Given the description of an element on the screen output the (x, y) to click on. 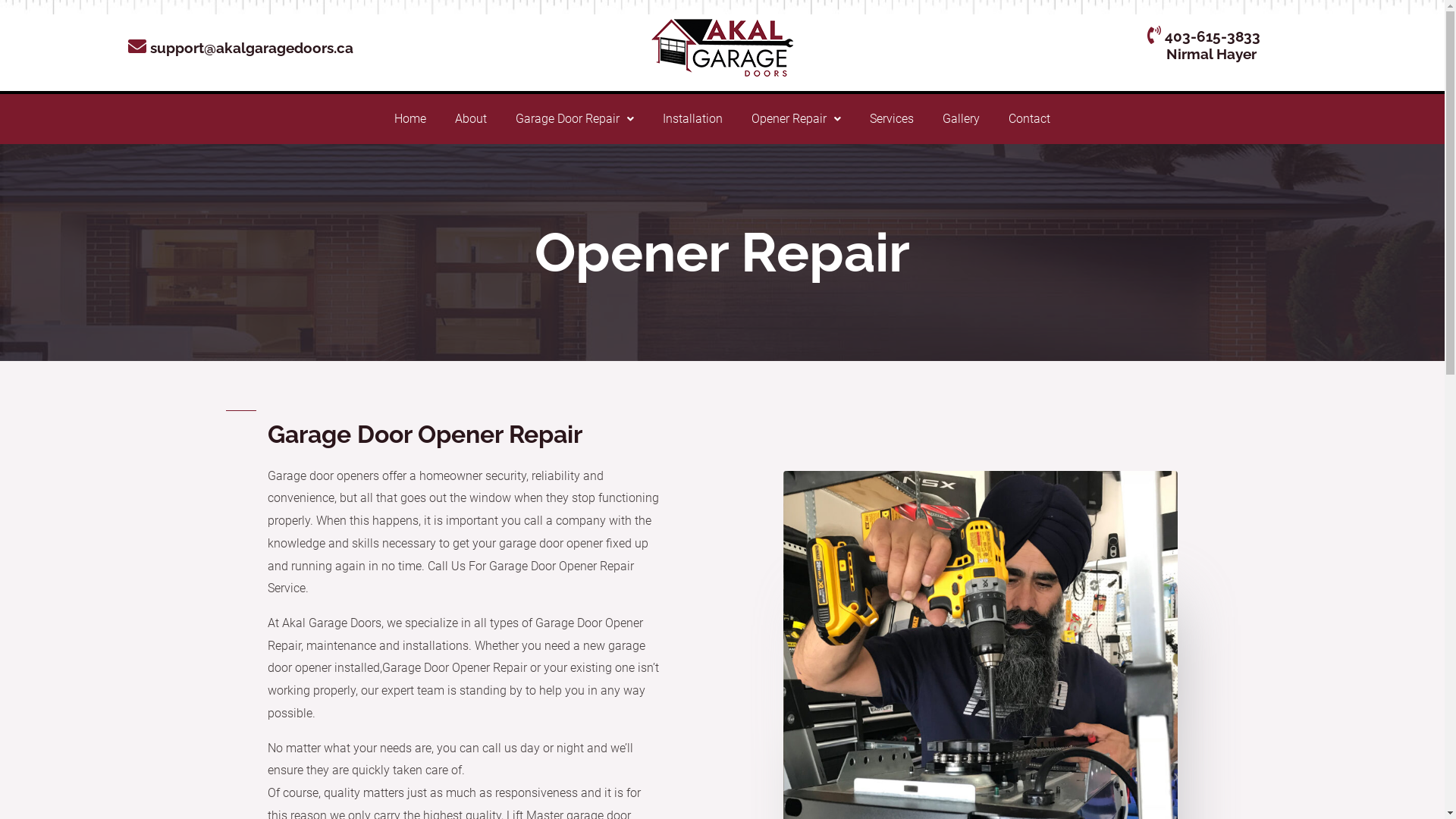
About Element type: text (470, 118)
Garage Door Repair Element type: text (574, 118)
Home Element type: text (409, 118)
Installation Element type: text (692, 118)
Services Element type: text (891, 118)
Gallery Element type: text (960, 118)
support@akalgaragedoors.ca Element type: text (240, 47)
Opener Repair Element type: text (795, 118)
Contact Element type: text (1028, 118)
403-615-3833
    Nirmal Hayer Element type: text (1203, 45)
